Given the description of an element on the screen output the (x, y) to click on. 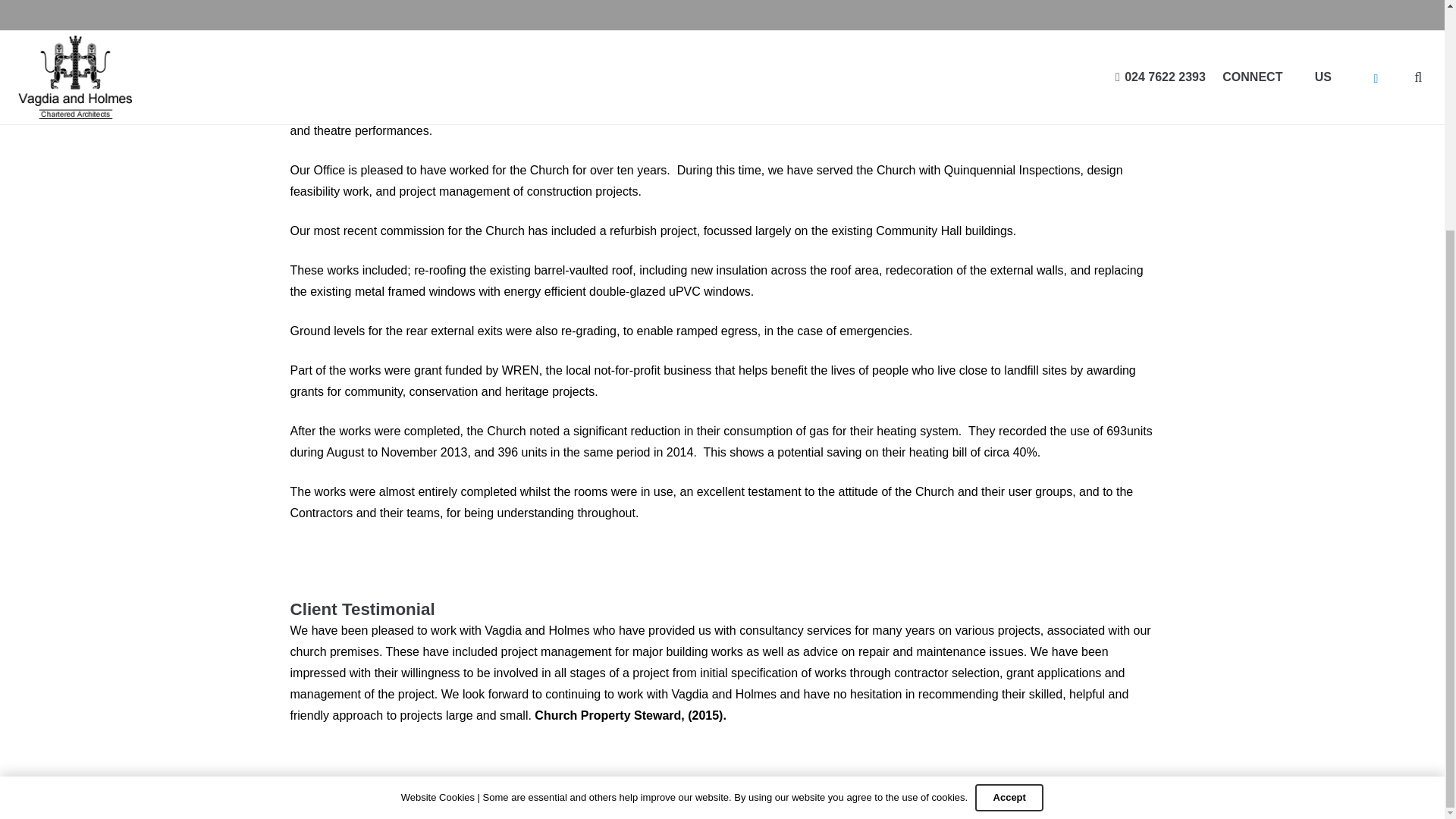
Accept (1009, 485)
